Given the description of an element on the screen output the (x, y) to click on. 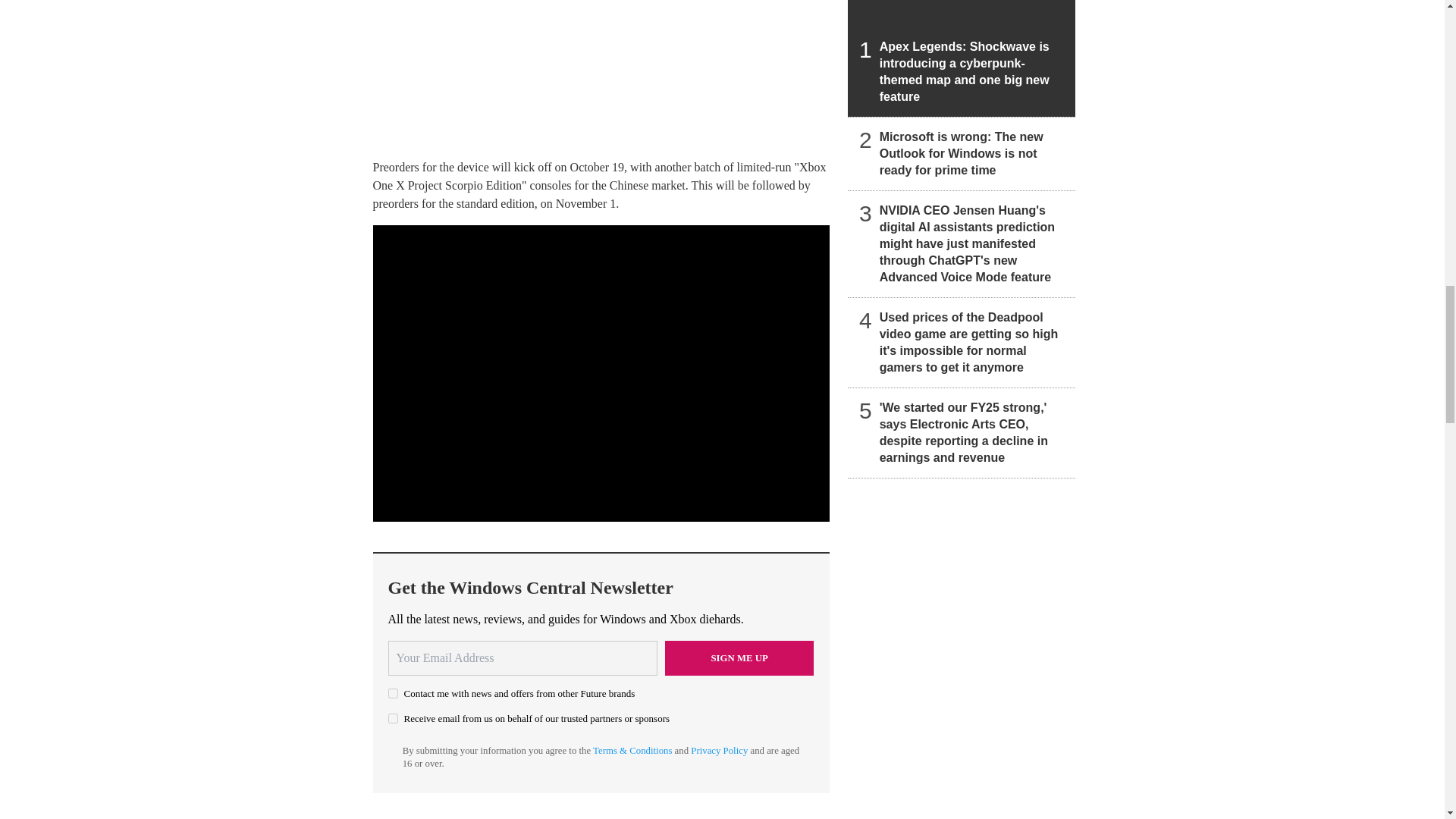
Sign me up (739, 657)
Privacy Policy (719, 750)
on (392, 718)
on (392, 693)
Sign me up (739, 657)
